Given the description of an element on the screen output the (x, y) to click on. 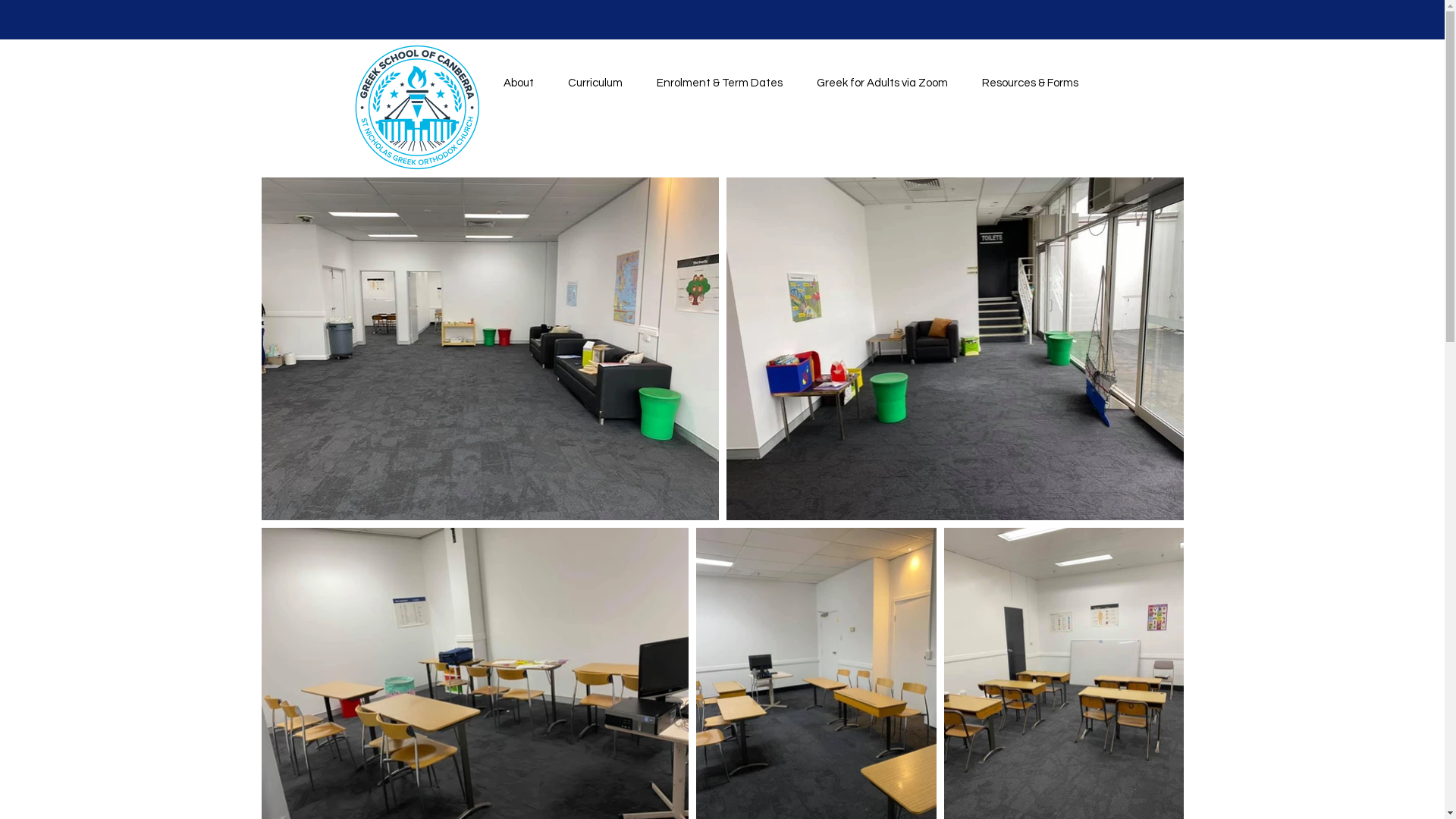
Greek for Adults via Zoom Element type: text (878, 76)
Curriculum Element type: text (591, 76)
Resources & Forms Element type: text (1026, 76)
About Element type: text (514, 76)
Enrolment & Term Dates Element type: text (715, 76)
